Given the description of an element on the screen output the (x, y) to click on. 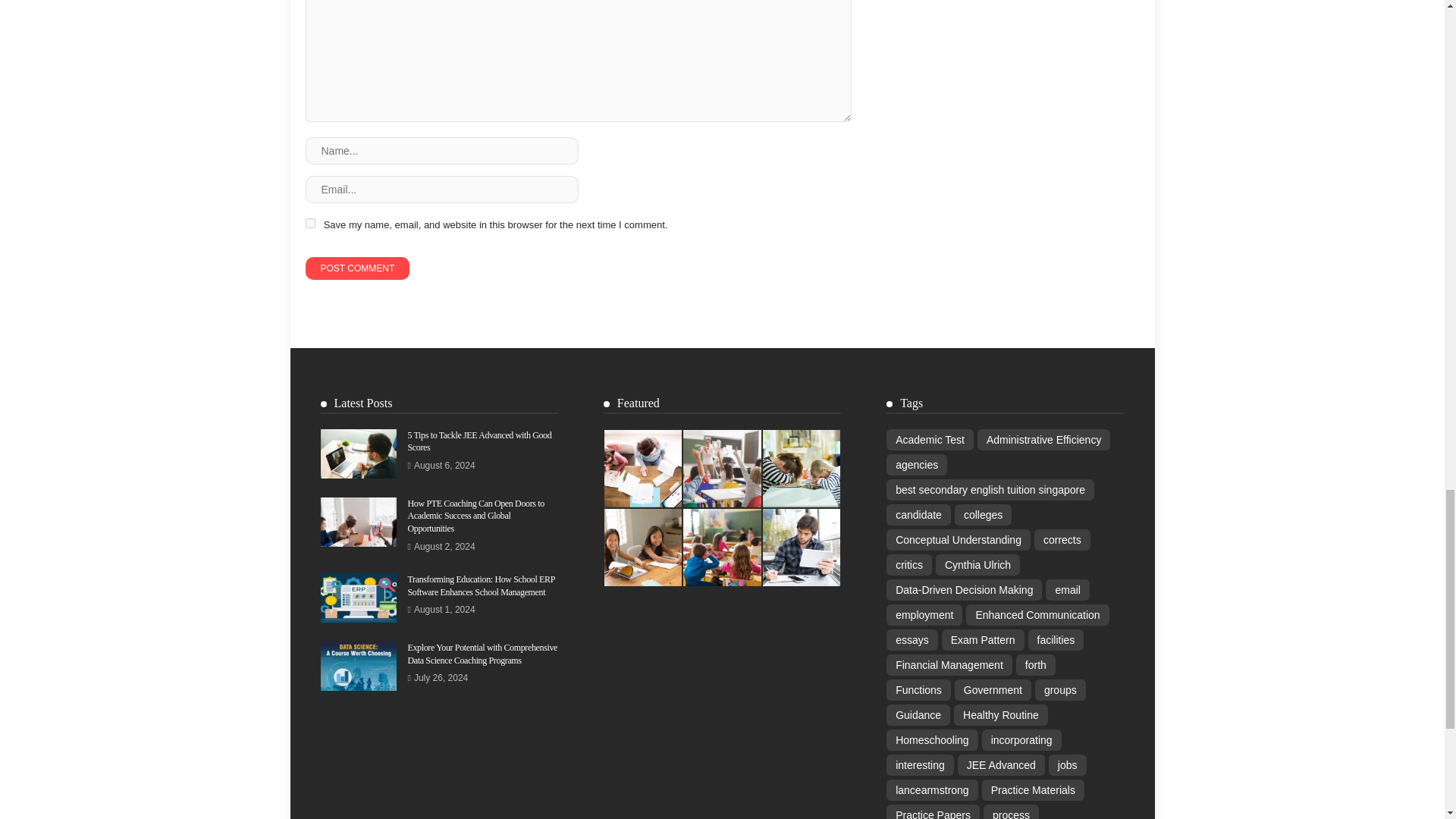
yes (309, 223)
Post Comment (356, 267)
Post Comment (356, 267)
